Given the description of an element on the screen output the (x, y) to click on. 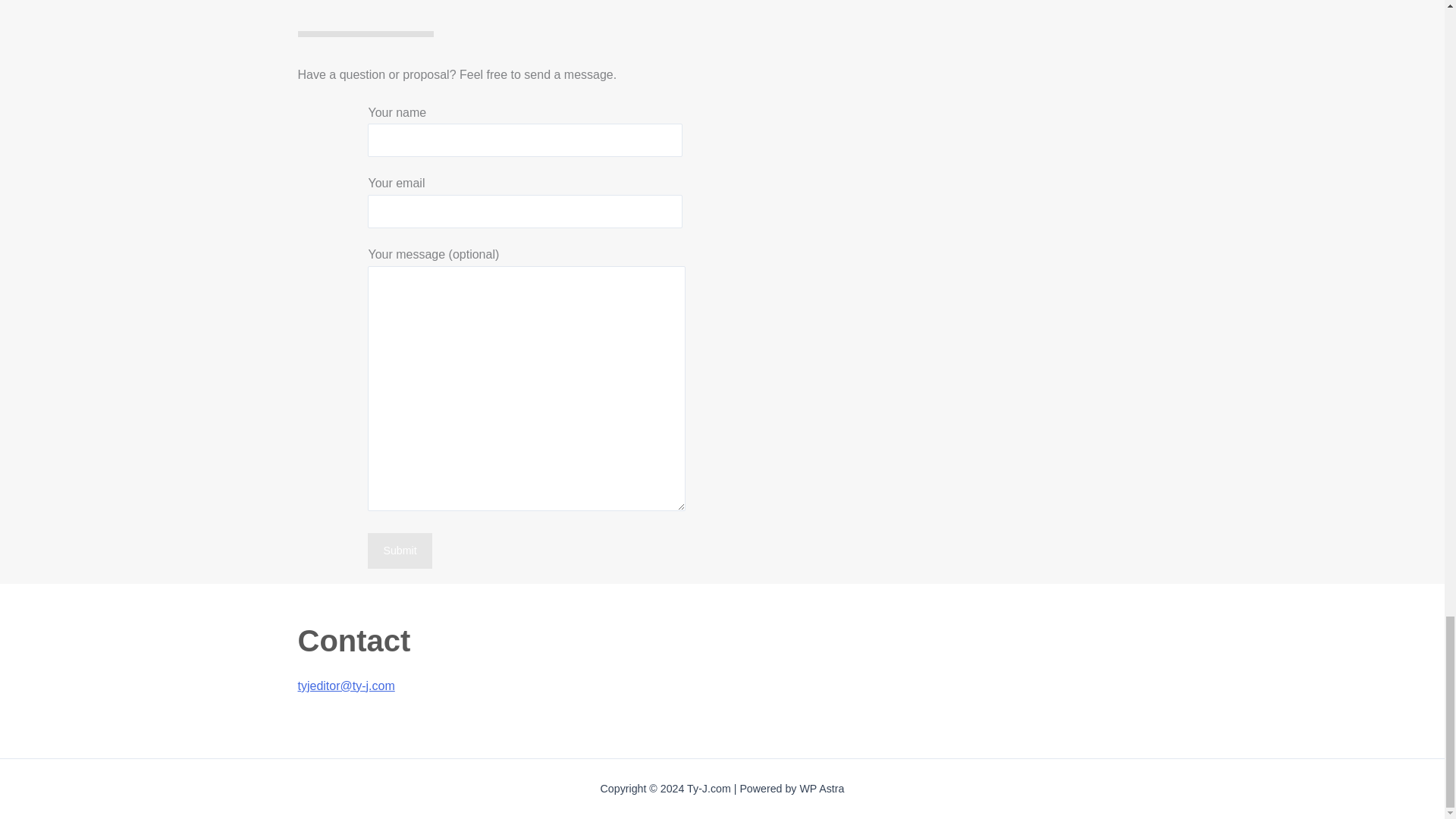
Submit (399, 550)
Submit (399, 550)
